Given the description of an element on the screen output the (x, y) to click on. 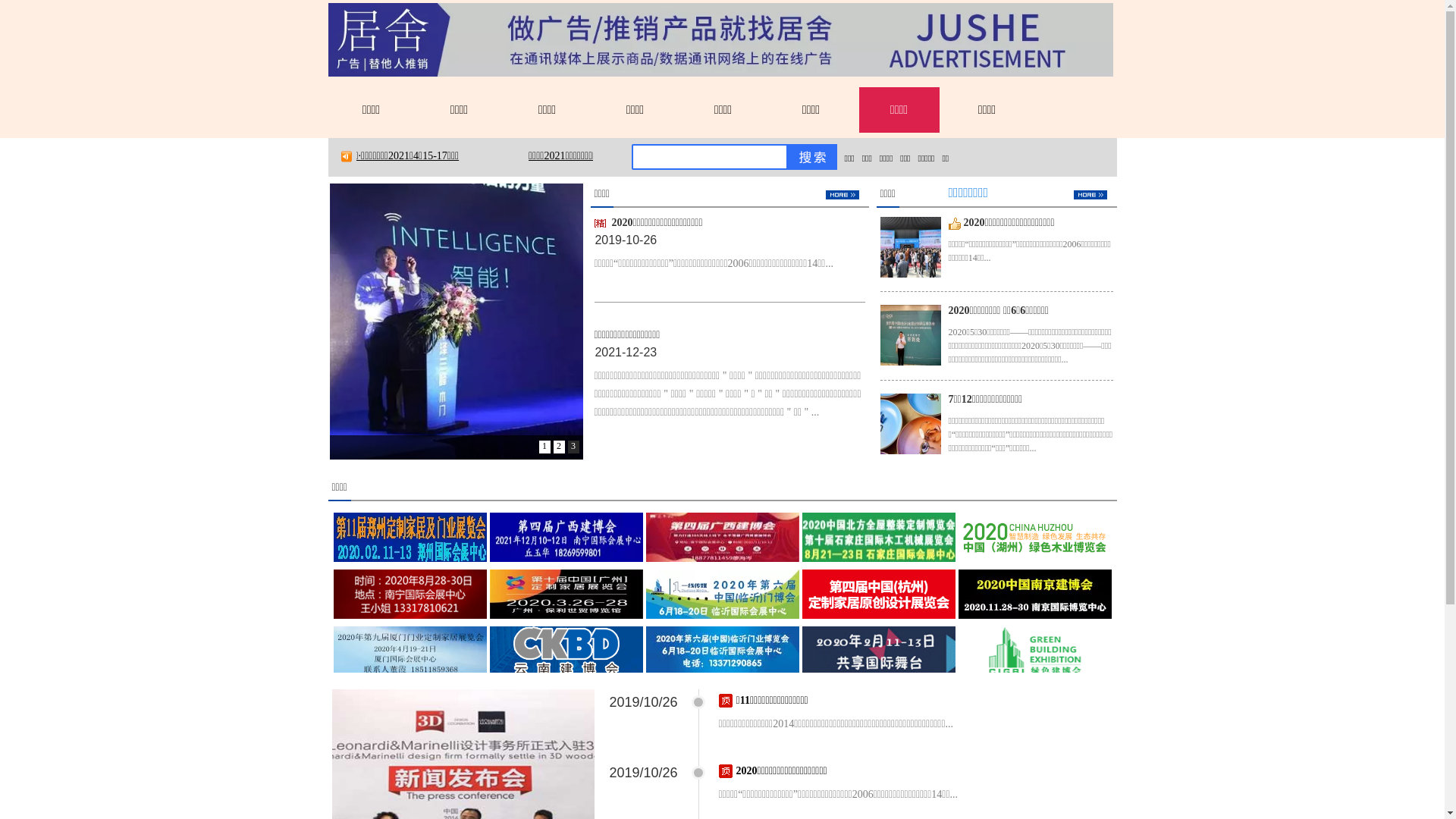
2021-12-23 Element type: text (625, 351)
2 Element type: text (558, 446)
1 Element type: text (543, 446)
2019/10/26 Element type: text (643, 772)
2019-10-26 Element type: text (625, 239)
2019/10/26 Element type: text (643, 701)
3 Element type: text (572, 446)
